Given the description of an element on the screen output the (x, y) to click on. 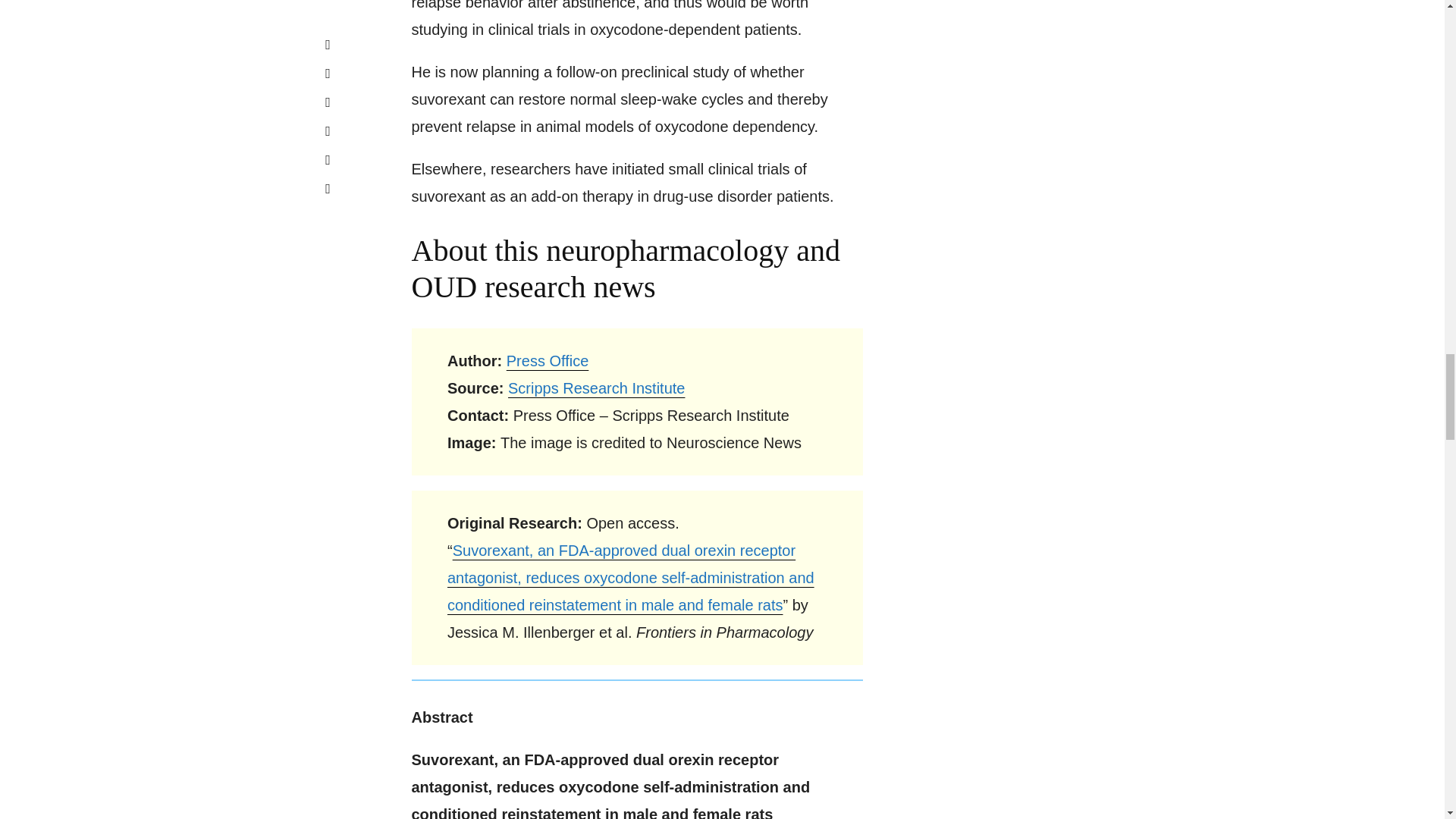
Scripps Research Institute (596, 388)
Press Office (547, 360)
